Given the description of an element on the screen output the (x, y) to click on. 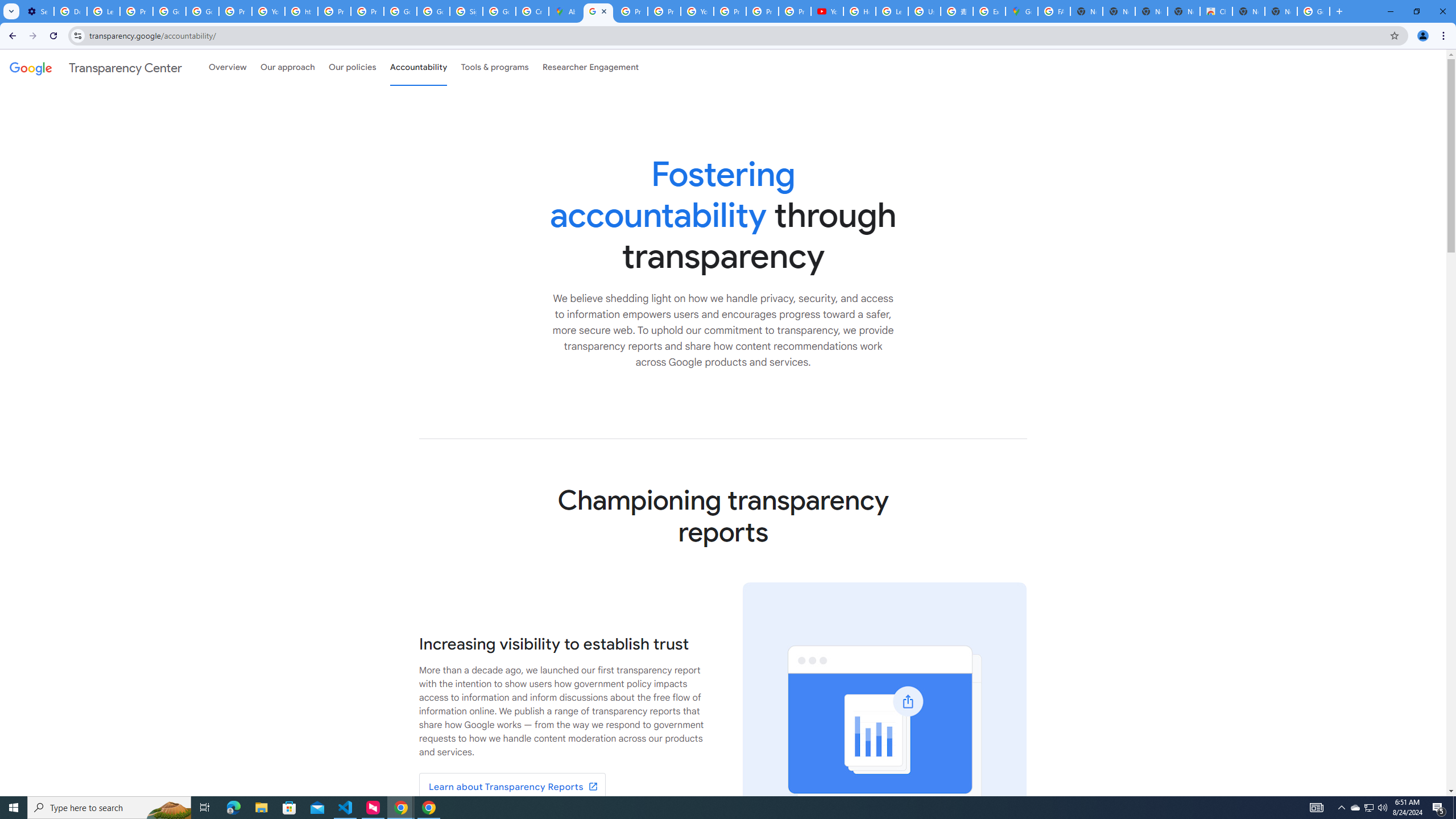
Our approach (287, 67)
Transparency Center (95, 67)
Researcher Engagement (590, 67)
Privacy Checkup (762, 11)
YouTube (697, 11)
Sign in - Google Accounts (465, 11)
YouTube (827, 11)
